Given the description of an element on the screen output the (x, y) to click on. 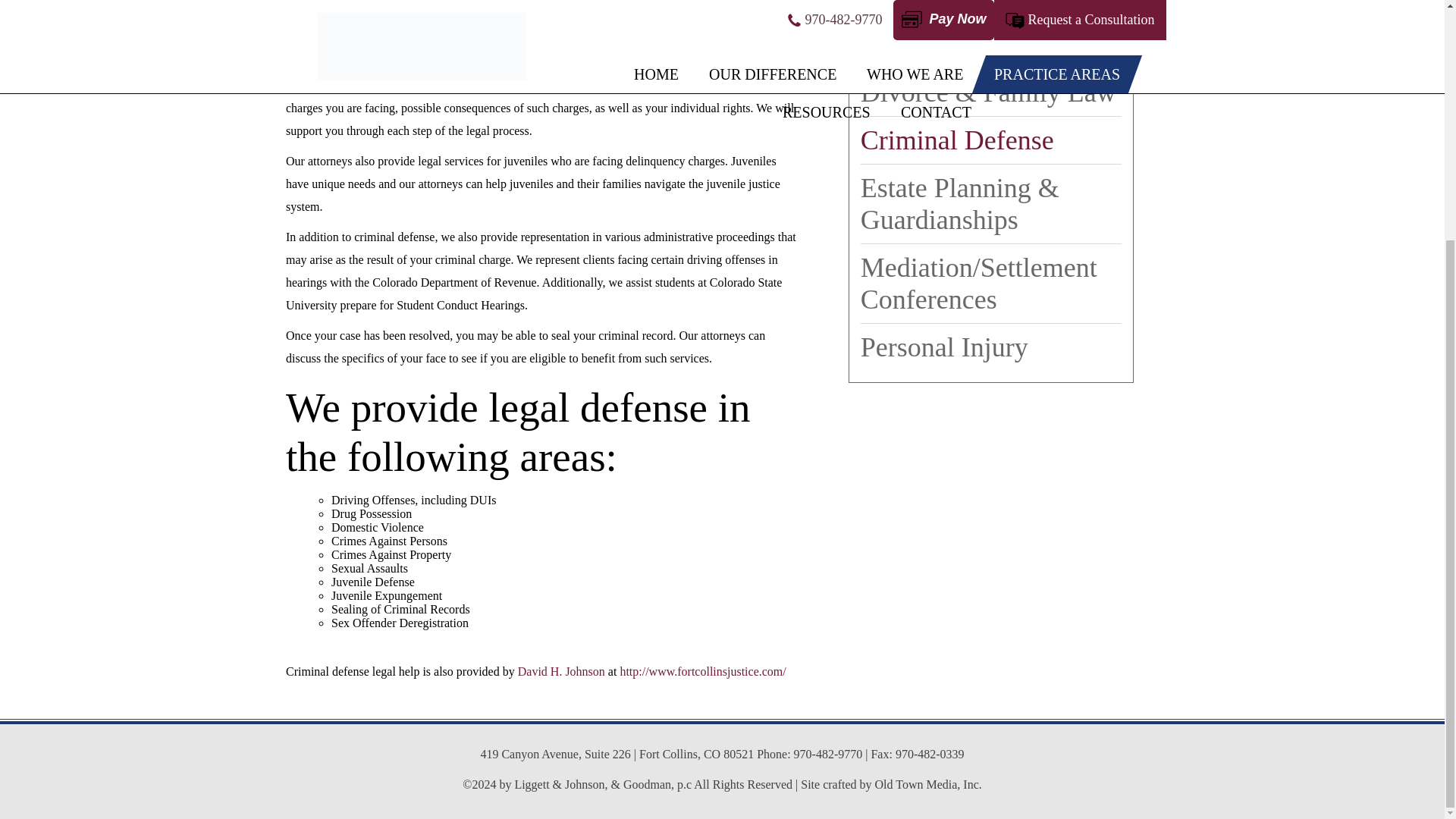
David H. Johnson (561, 671)
Personal Injury (990, 347)
Old Town Media, Inc. (928, 784)
Criminal Defense (990, 140)
970-482-0339 (929, 753)
Sarah E. Liggett (418, 84)
970-482-9770 (828, 753)
Gail B. Goodman (524, 84)
David H. Johnson (328, 84)
